Given the description of an element on the screen output the (x, y) to click on. 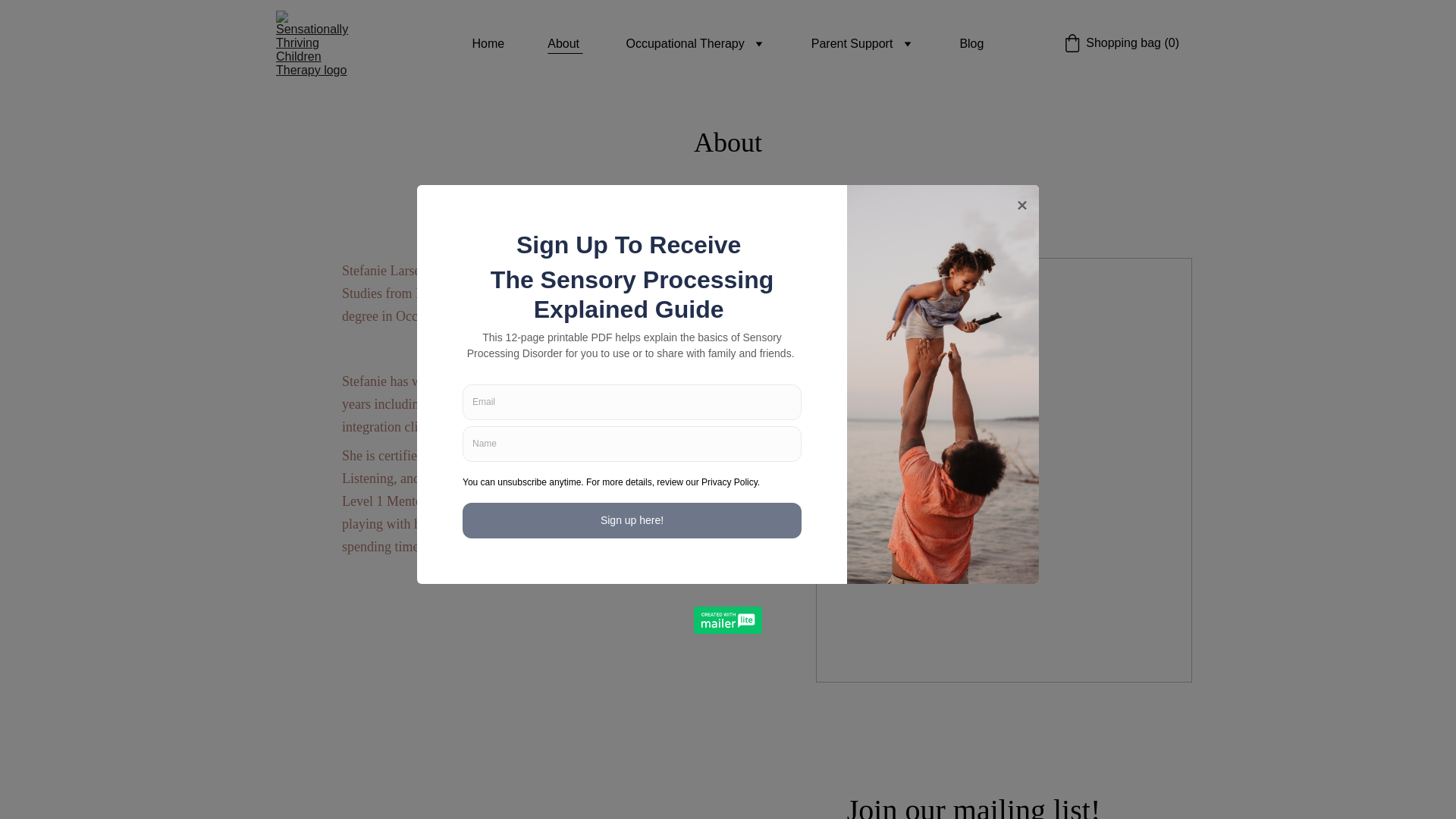
About  (564, 44)
Blog (971, 44)
Go to cart (1120, 43)
Home (488, 44)
